Given the description of an element on the screen output the (x, y) to click on. 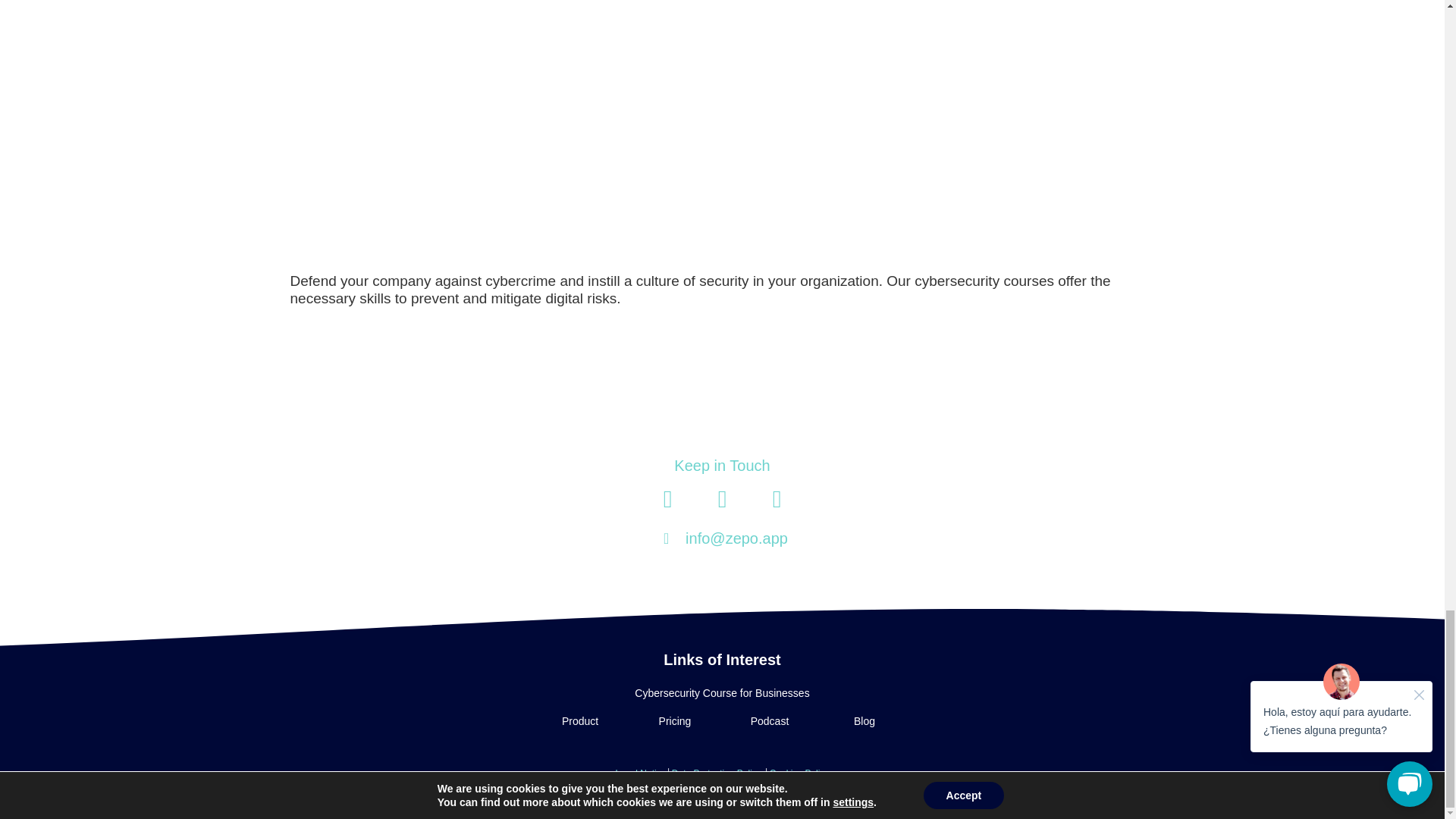
Cookies Policy (799, 773)
Podcast (769, 721)
Legal Notice (640, 773)
Pricing (674, 721)
Cybersecurity Course for Businesses (721, 693)
Blog (864, 721)
Data Protection Policy  (716, 773)
Product (580, 721)
